Given the description of an element on the screen output the (x, y) to click on. 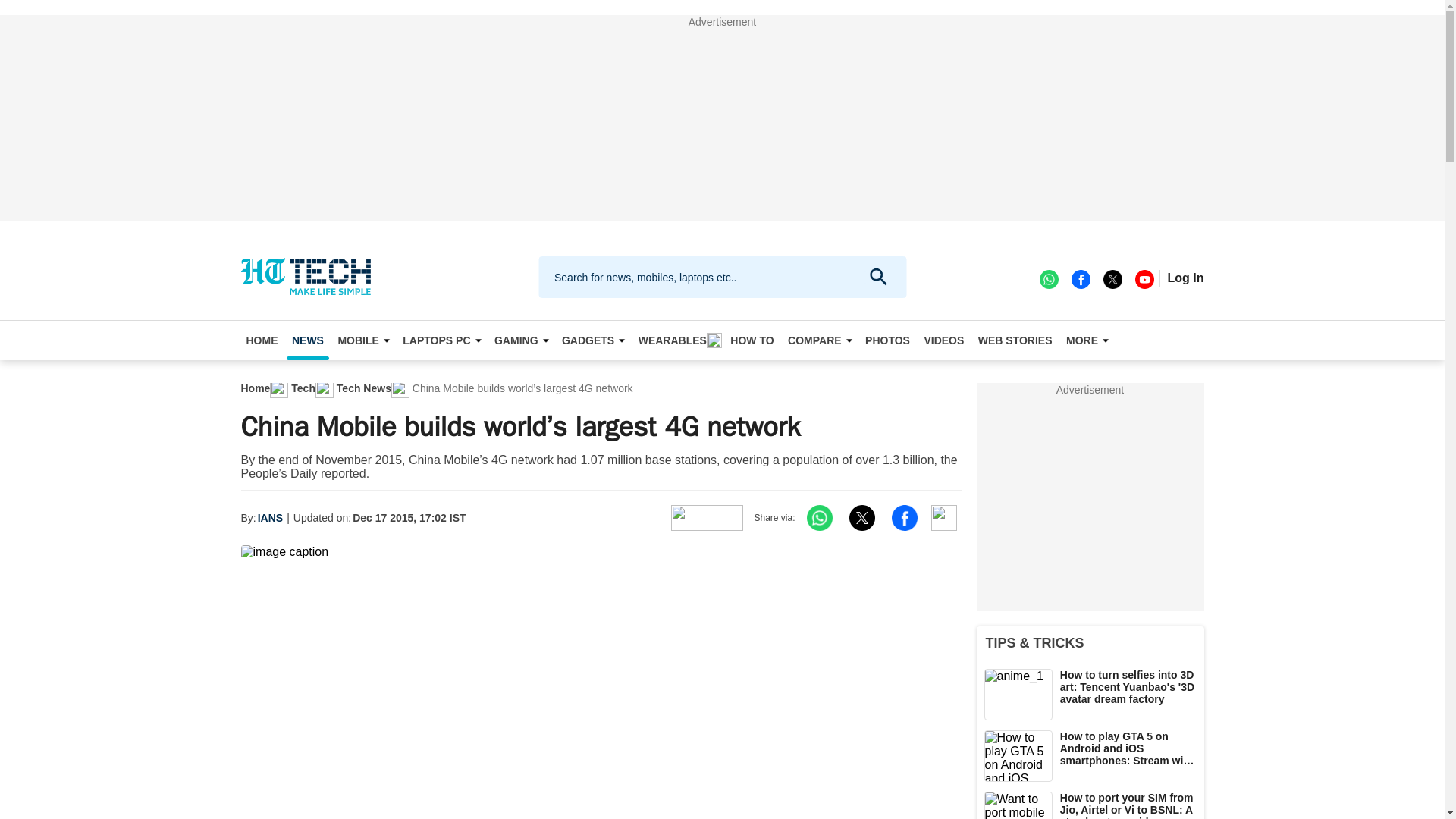
Login (1185, 277)
youtube (1143, 278)
COMPARE (820, 340)
Get to know more about News from India and around the world. (307, 340)
WEARABLES (677, 340)
LAPTOPS PC (440, 340)
HOME (262, 340)
WhatsApp channel (1048, 278)
NEWS (307, 340)
GADGETS (592, 340)
GAMING (521, 340)
facebook (1079, 278)
HOW TO (751, 340)
